Given the description of an element on the screen output the (x, y) to click on. 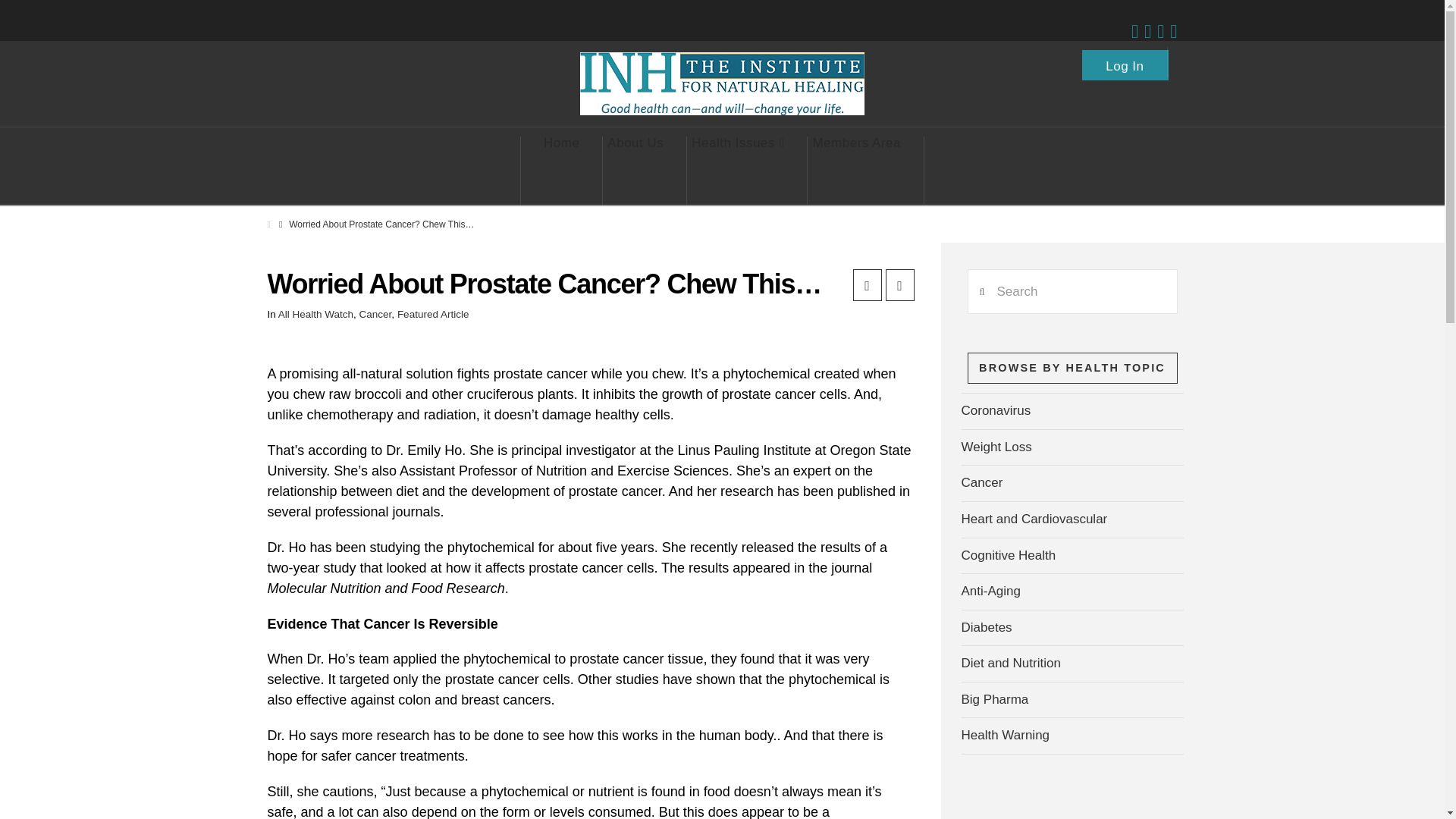
About Us (636, 170)
Natural Health Breakthroughs from Across the Globe (721, 83)
Log In (1125, 61)
Home (560, 170)
Health Issues (738, 170)
Members Area (856, 170)
